Given the description of an element on the screen output the (x, y) to click on. 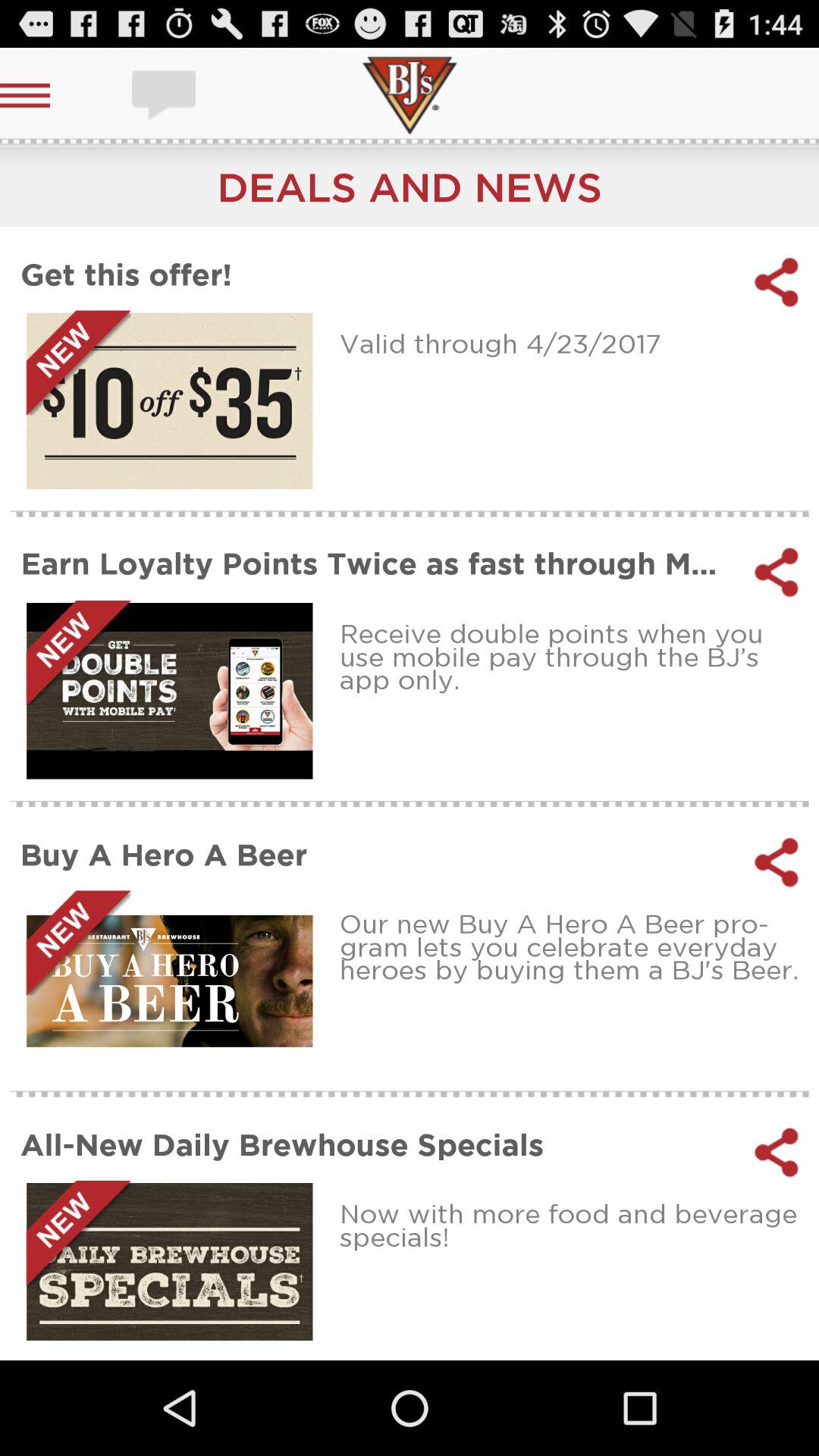
share the article (776, 572)
